Given the description of an element on the screen output the (x, y) to click on. 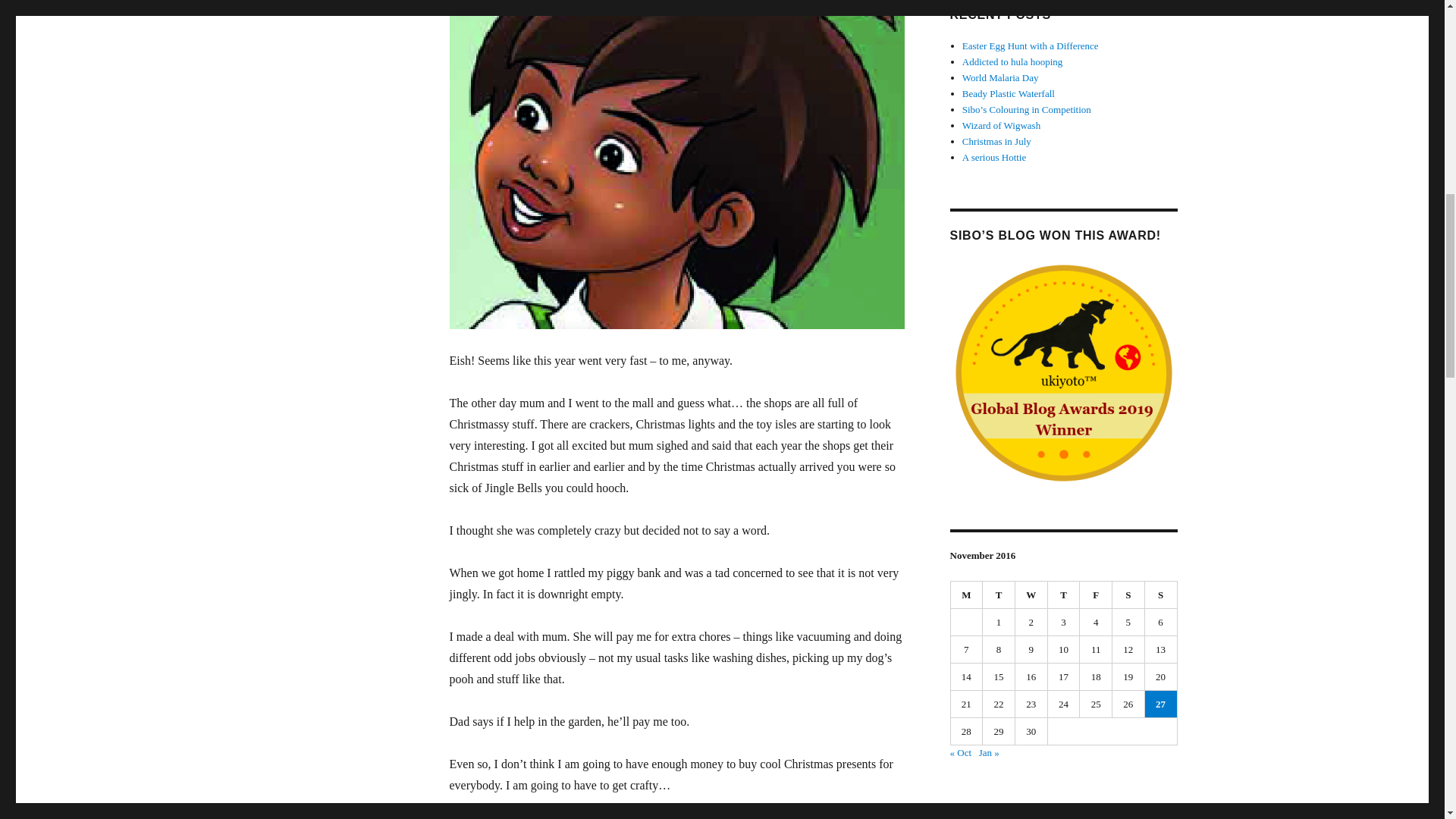
Beady Plastic Waterfall (1008, 93)
Sunday (1160, 595)
Friday (1096, 595)
Thursday (1064, 595)
A serious Hottie (994, 156)
Christmas in July (996, 141)
Wednesday (1031, 595)
Monday (967, 595)
Easter Egg Hunt with a Difference (1030, 45)
World Malaria Day (1000, 77)
Addicted to hula hooping (1012, 61)
Saturday (1128, 595)
Wizard of Wigwash (1001, 125)
Tuesday (998, 595)
